Given the description of an element on the screen output the (x, y) to click on. 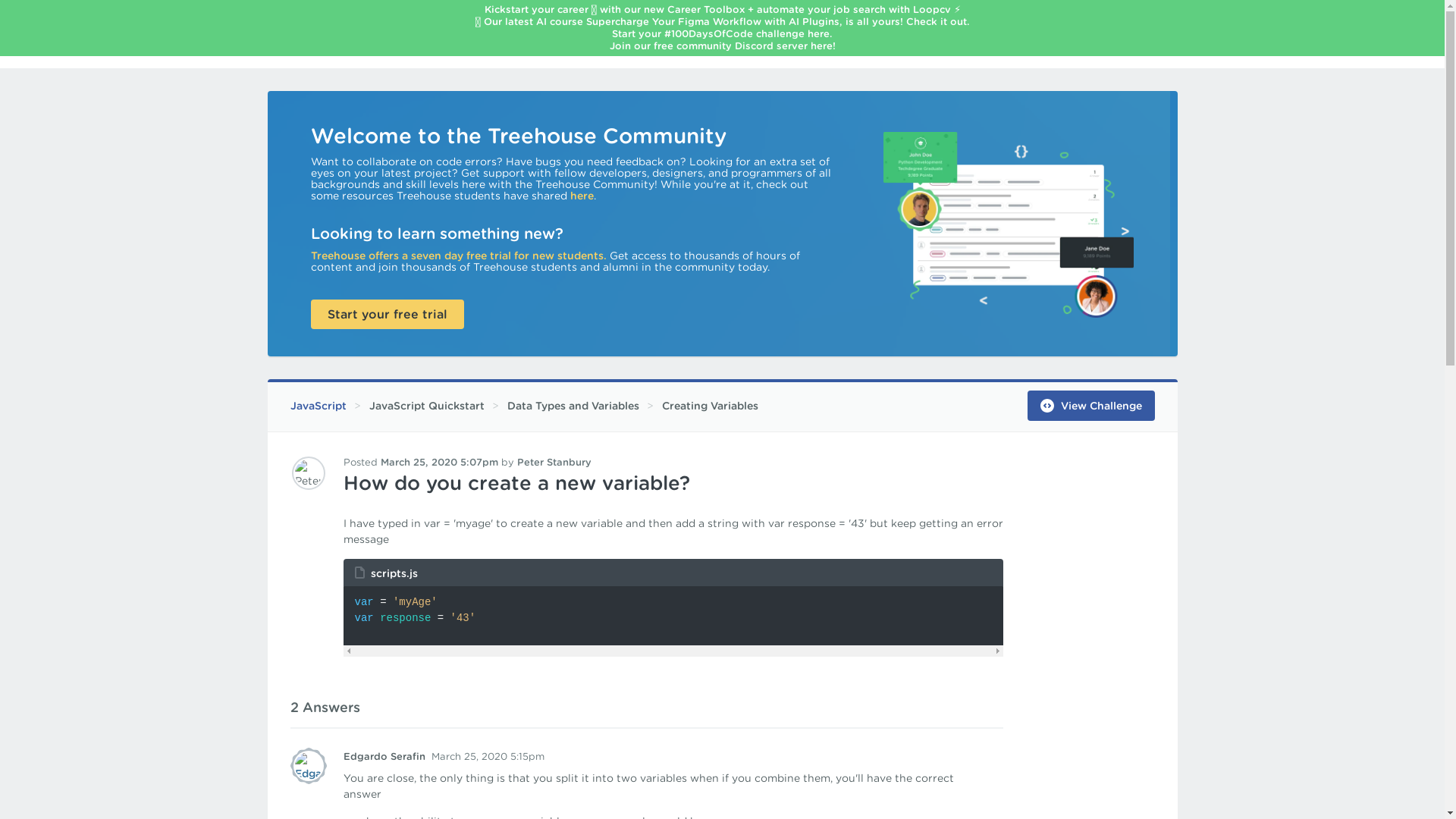
Treehouse Logo (296, 39)
Join our free community Discord server here! (722, 45)
Supercharge Your Figma Workflow with AI Plugins (711, 21)
Library (481, 41)
seal-mask (307, 765)
Loopcv (931, 9)
Treehouse Logo (296, 39)
Plans (408, 41)
Career Toolbox (705, 9)
